Given the description of an element on the screen output the (x, y) to click on. 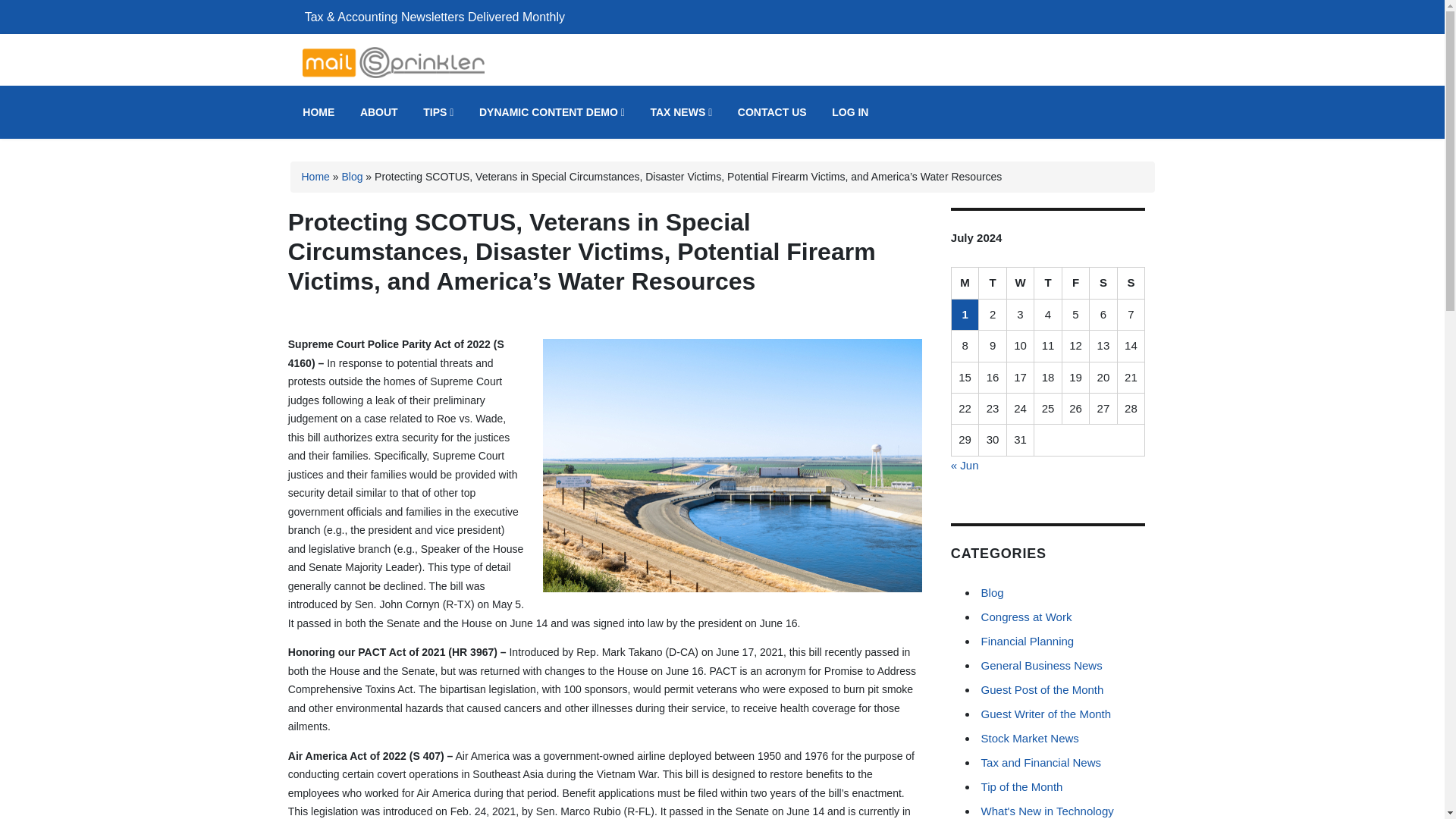
Friday (1075, 282)
Thursday (1047, 282)
Sunday (1131, 282)
LOG IN (849, 111)
TAX NEWS (681, 111)
Wednesday (1020, 282)
CPA Email Newsletters (417, 95)
Tuesday (992, 282)
TIPS (437, 111)
Blog (351, 176)
Home (315, 176)
CONTACT US (771, 111)
Saturday (1102, 282)
ABOUT (378, 111)
HOME (318, 111)
